Given the description of an element on the screen output the (x, y) to click on. 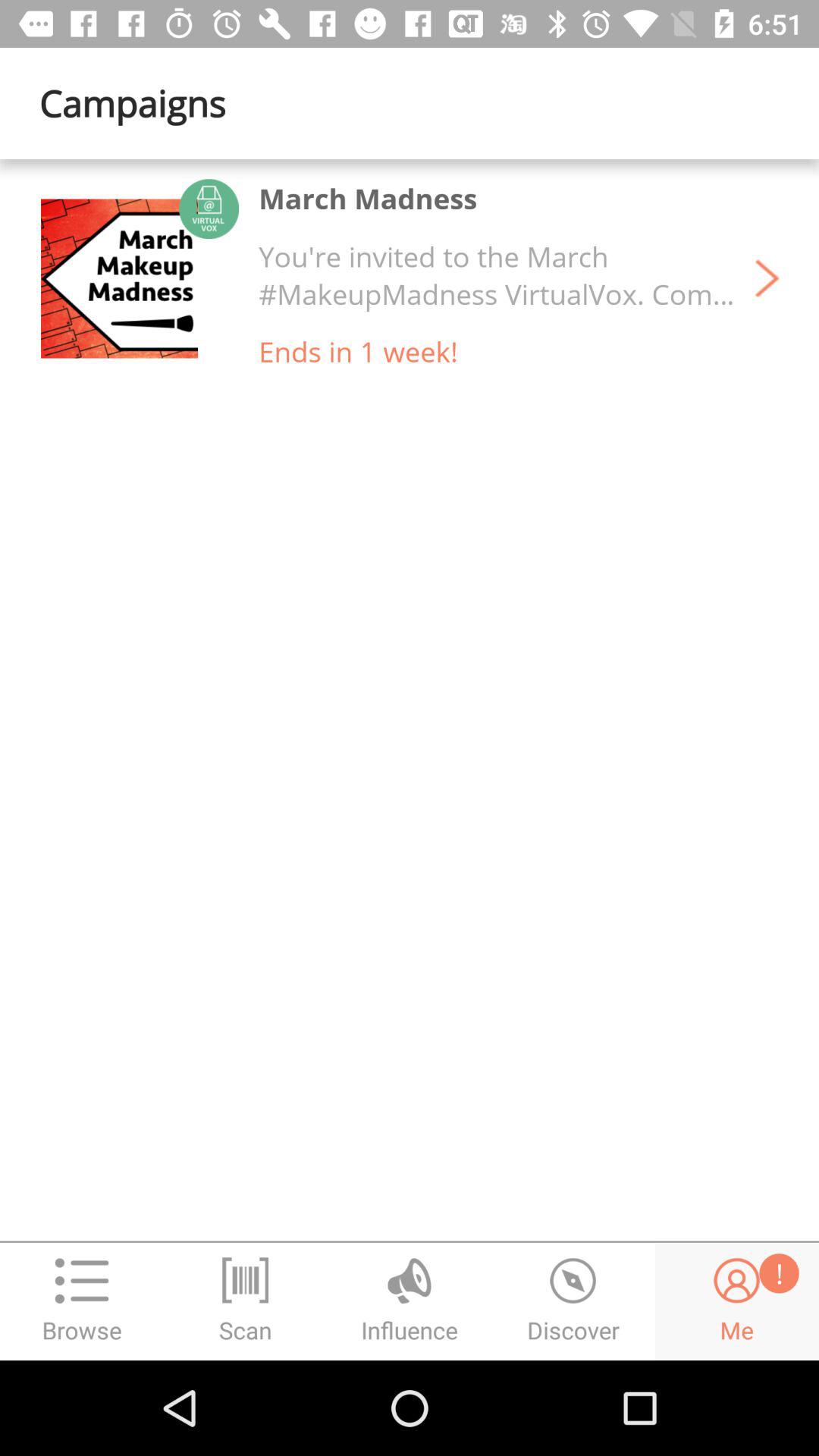
flip to ends in 1 item (357, 351)
